Given the description of an element on the screen output the (x, y) to click on. 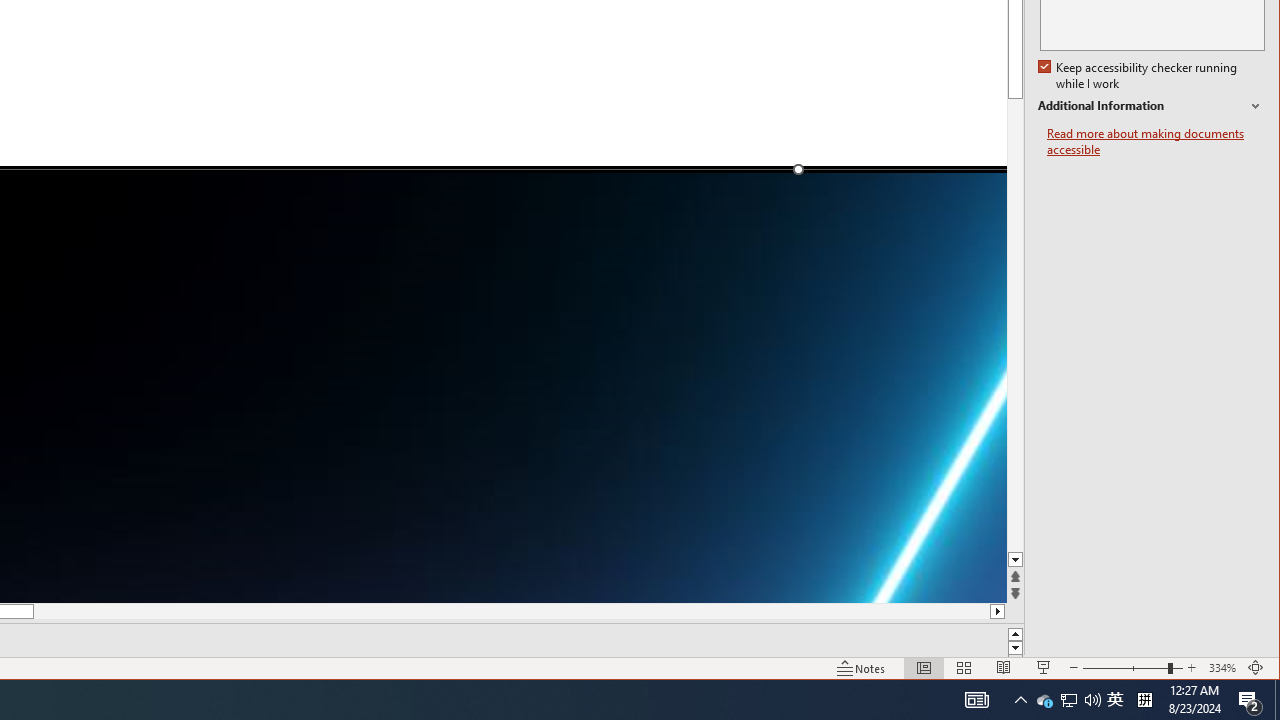
Read more about making documents accessible (1155, 142)
Zoom to Fit  (1256, 668)
Additional Information (1151, 106)
Zoom 334% (1222, 668)
AutomationID: 4105 (1044, 699)
Notes  (976, 699)
Keep accessibility checker running while I work (861, 668)
Notification Chevron (1139, 76)
Action Center, 2 new notifications (1020, 699)
